Given the description of an element on the screen output the (x, y) to click on. 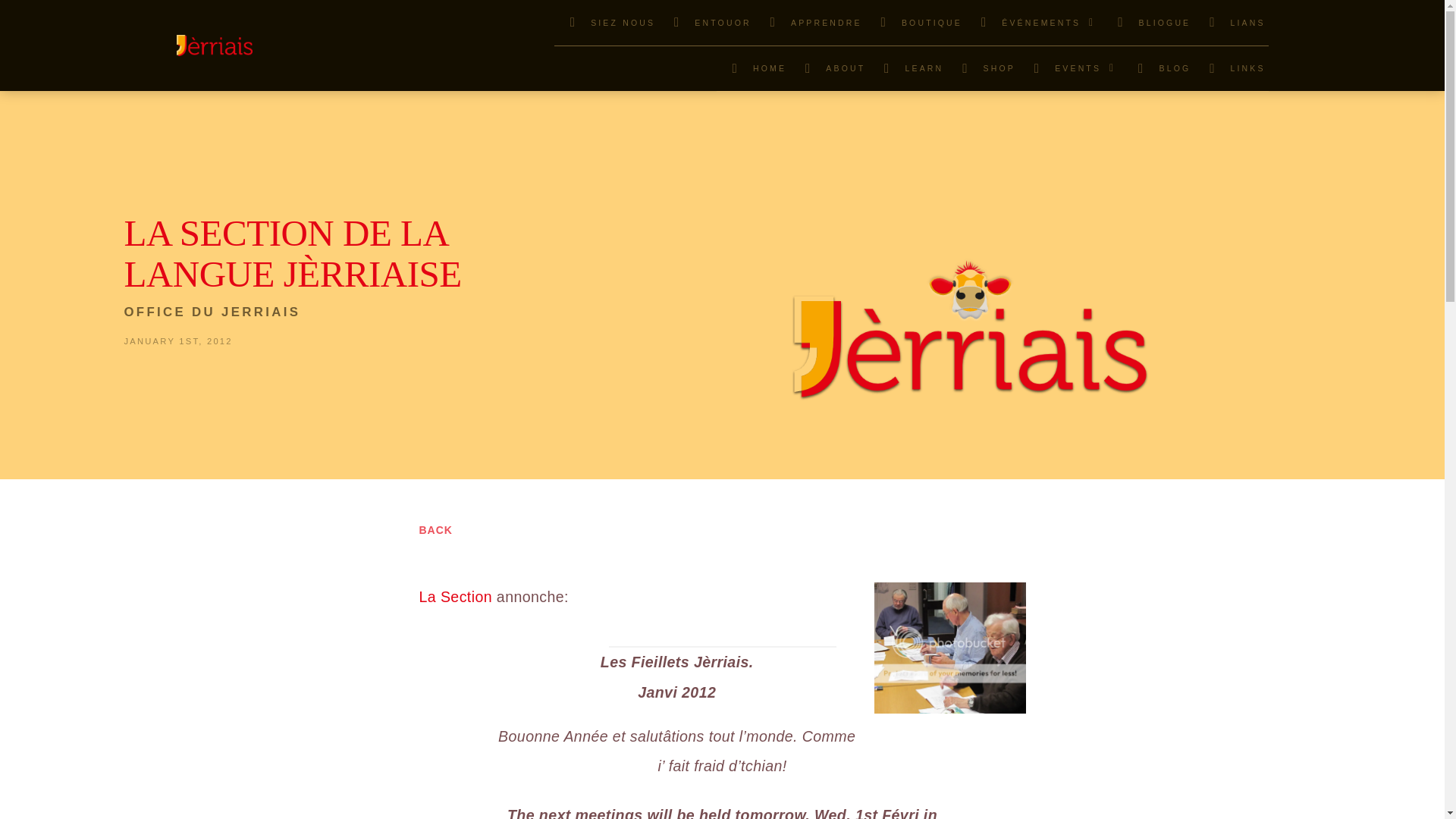
SIEZ NOUS (606, 22)
ABOUT (828, 68)
LEARN (906, 68)
SHOP (981, 68)
EVENTS (1069, 68)
BLIOGUE (1147, 22)
LIANS (1230, 22)
APPRENDRE (809, 22)
Posts by Office du Jerriais (211, 311)
HOME (752, 68)
BOUTIQUE (914, 22)
ENTOUOR (706, 22)
